Given the description of an element on the screen output the (x, y) to click on. 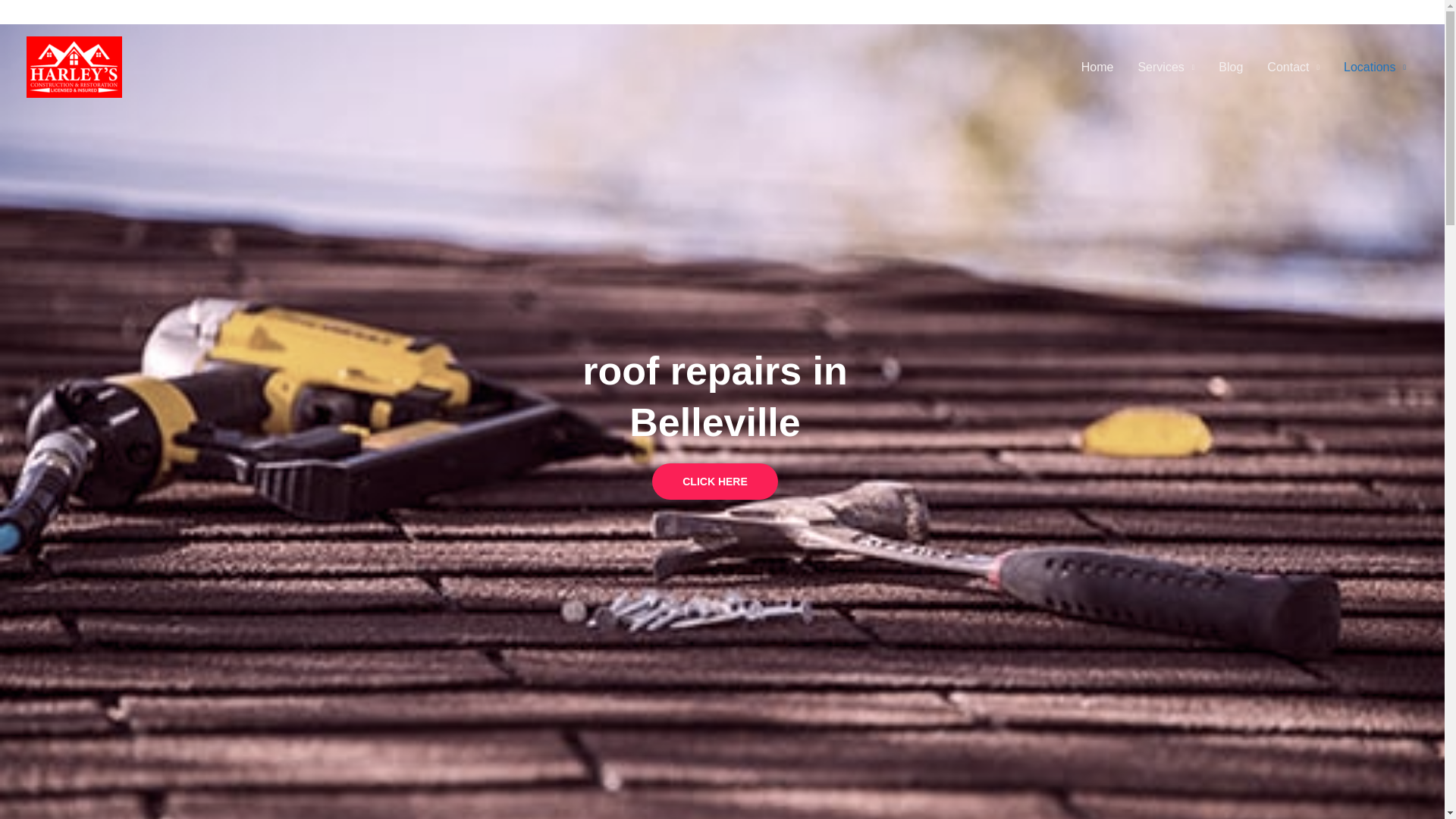
Services (1166, 66)
Blog (1231, 66)
Home (1096, 66)
Locations (1375, 66)
Contact (1293, 66)
